Given the description of an element on the screen output the (x, y) to click on. 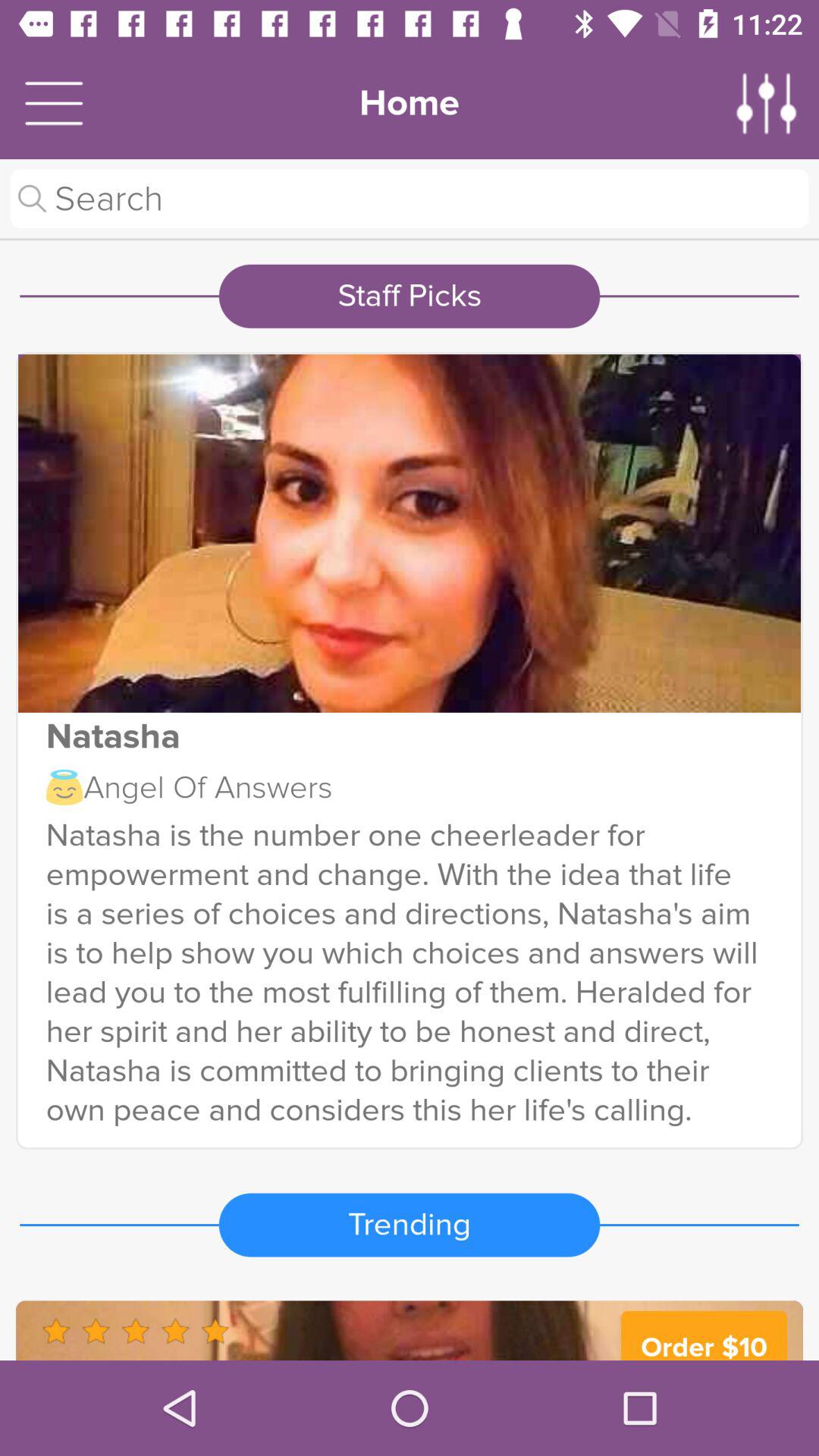
adjust settings (767, 103)
